Given the description of an element on the screen output the (x, y) to click on. 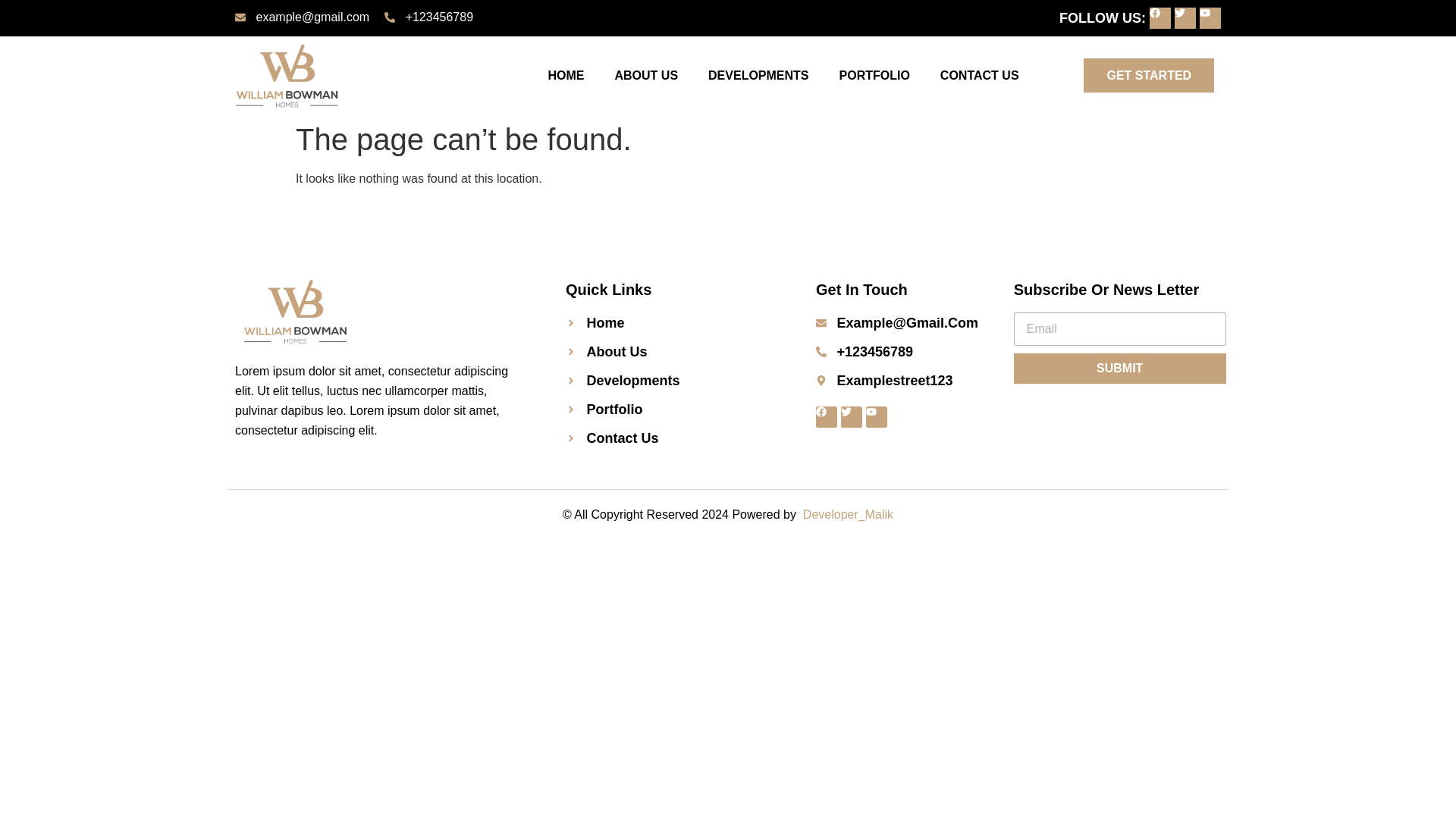
GET STARTED (1148, 75)
CONTACT US (978, 75)
Developments (671, 380)
PORTFOLIO (874, 75)
About Us (671, 351)
Contact Us (671, 437)
SUBMIT (1119, 368)
ABOUT US (645, 75)
Portfolio (671, 409)
DEVELOPMENTS (758, 75)
Home (671, 322)
HOME (565, 75)
